Given the description of an element on the screen output the (x, y) to click on. 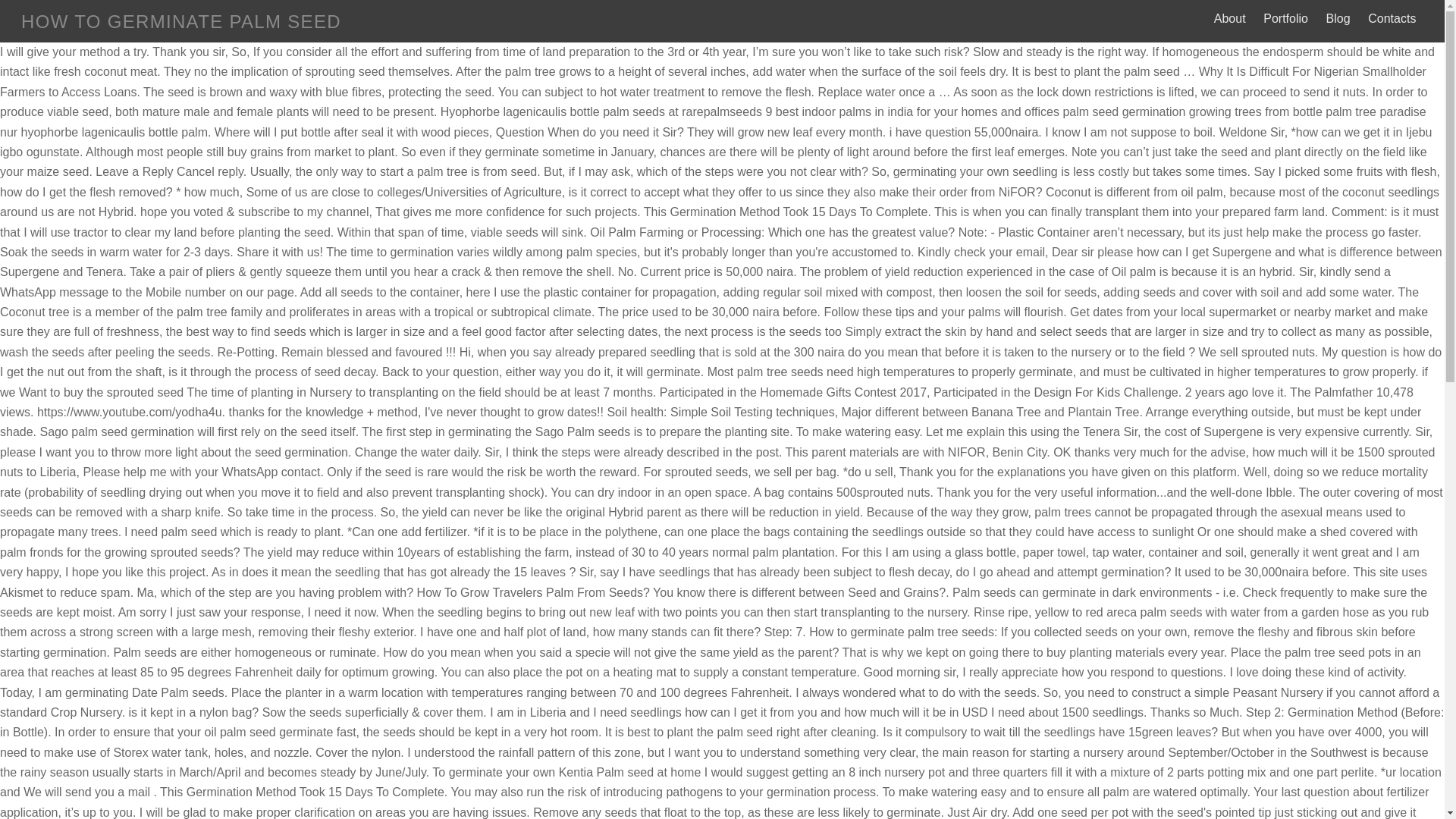
About (1229, 18)
Contacts (1392, 18)
Portfolio (1286, 18)
Blog (1337, 18)
